Given the description of an element on the screen output the (x, y) to click on. 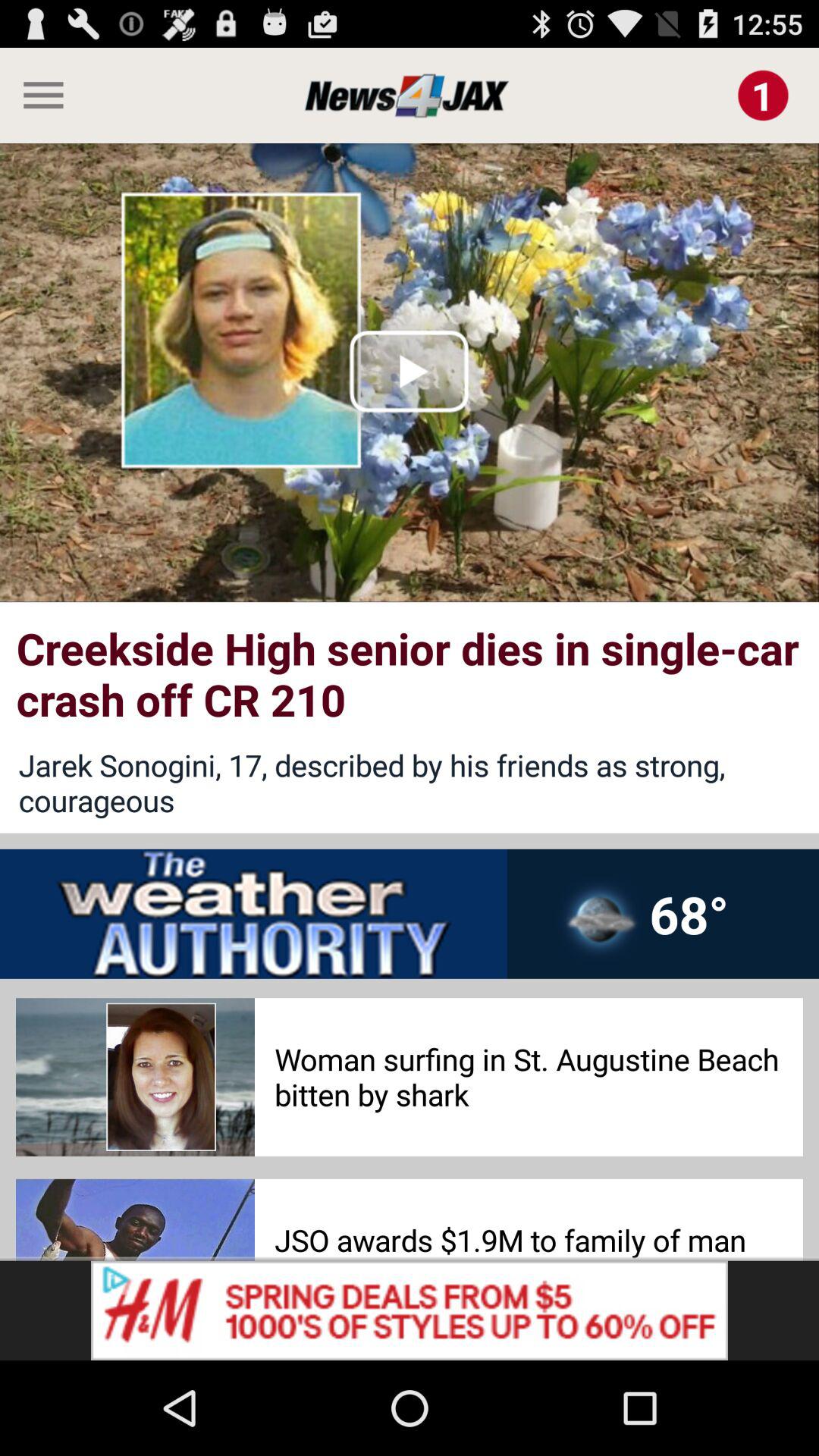
launch icon at the top left corner (37, 95)
